Given the description of an element on the screen output the (x, y) to click on. 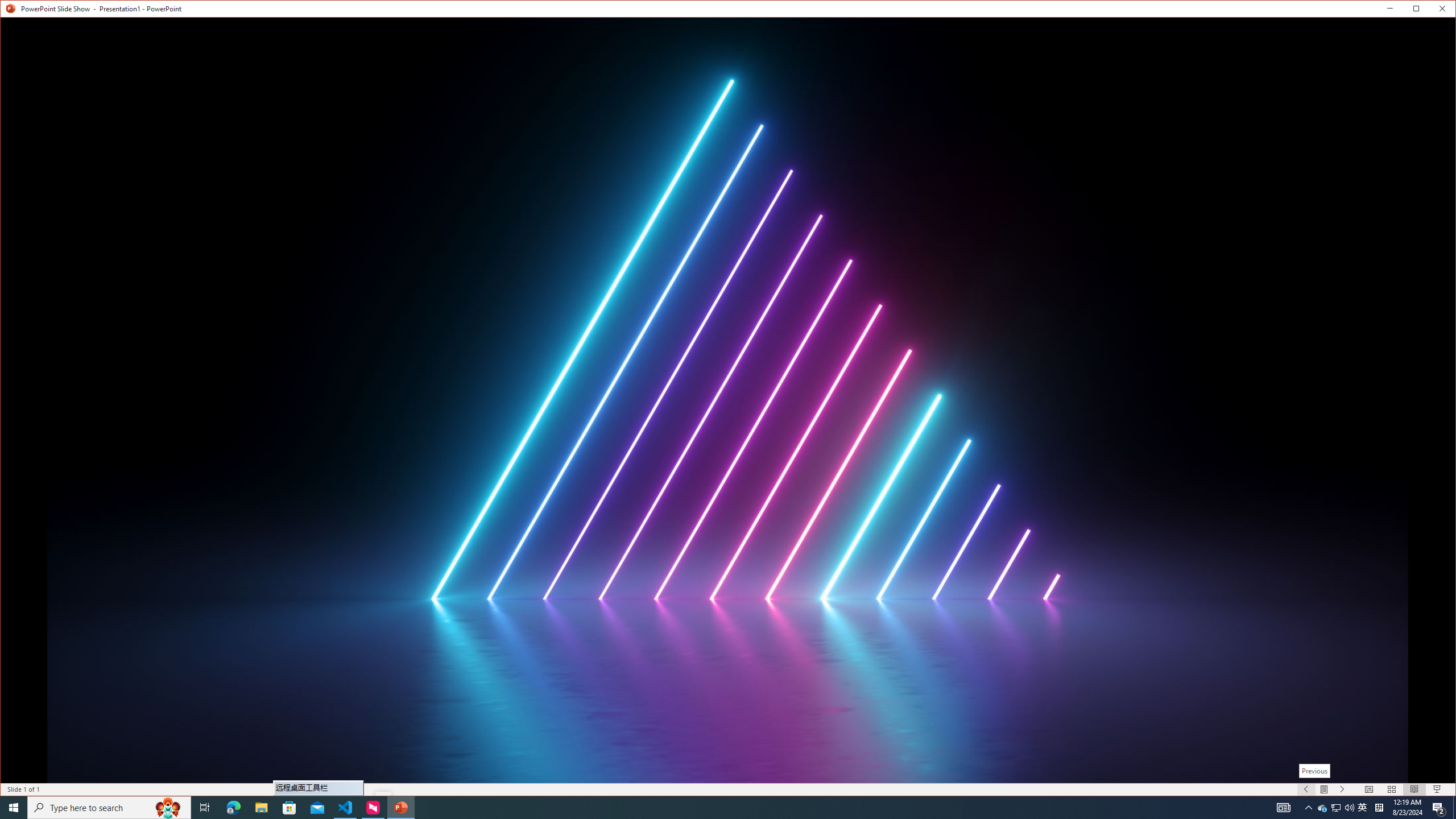
Menu On (1324, 789)
Previous (1314, 771)
